Given the description of an element on the screen output the (x, y) to click on. 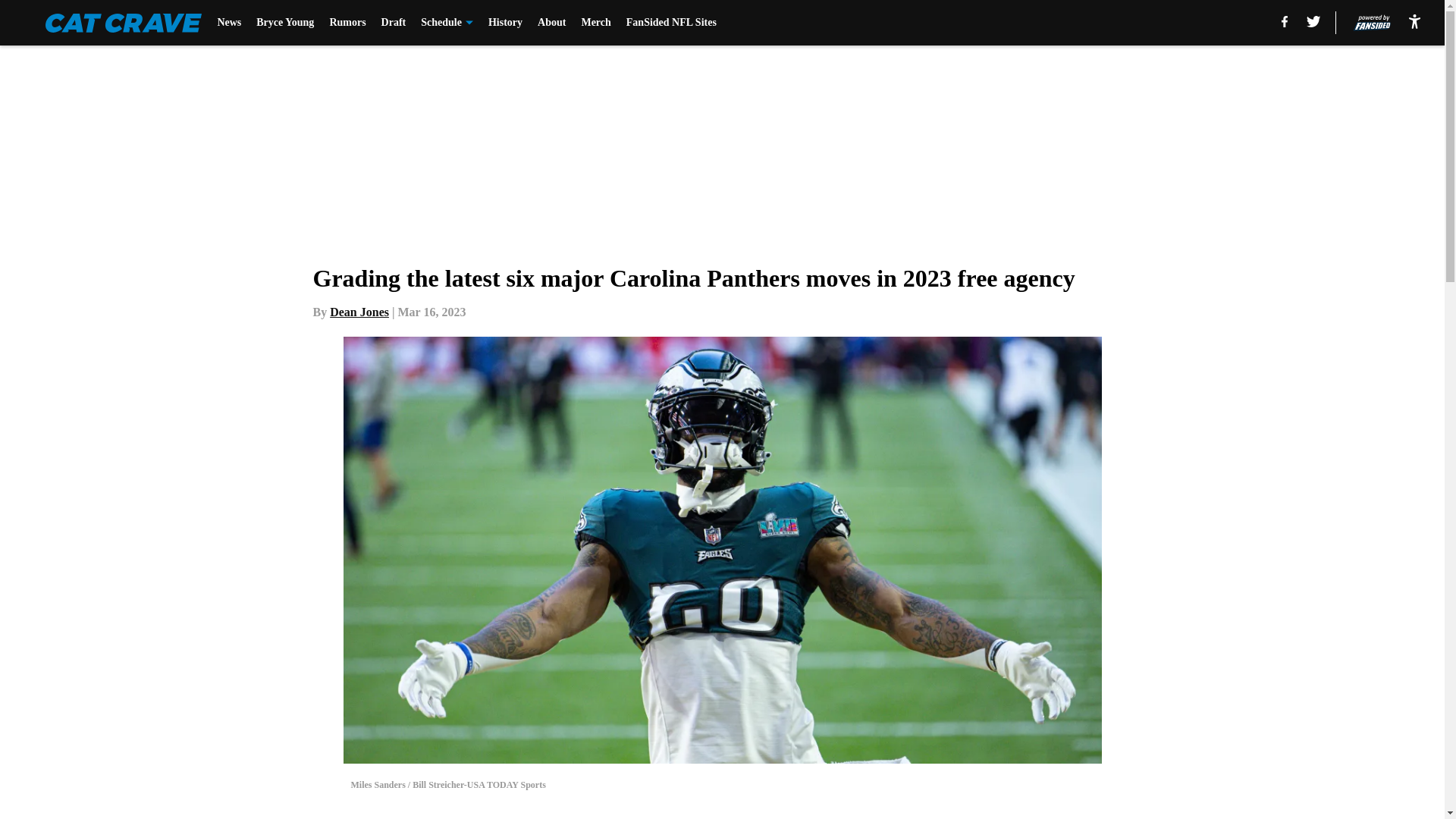
Bryce Young (285, 22)
About (551, 22)
History (504, 22)
News (228, 22)
Rumors (347, 22)
Merch (595, 22)
FanSided NFL Sites (671, 22)
Draft (393, 22)
Dean Jones (359, 311)
